Given the description of an element on the screen output the (x, y) to click on. 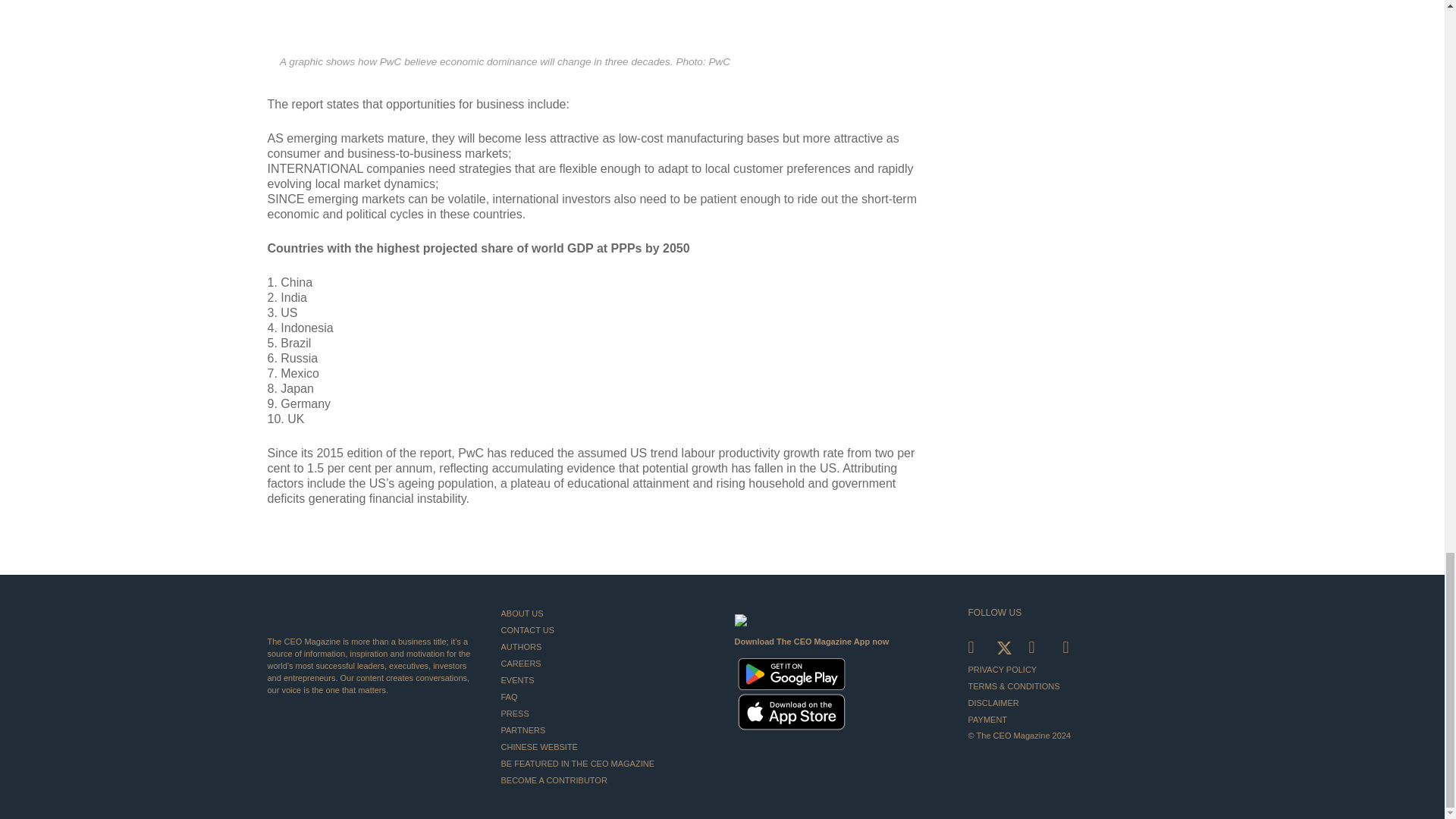
About Us (605, 613)
Authors (605, 646)
FAQ (605, 696)
Press (605, 713)
Contact Us (605, 629)
Careers (605, 663)
Events (605, 679)
